Given the description of an element on the screen output the (x, y) to click on. 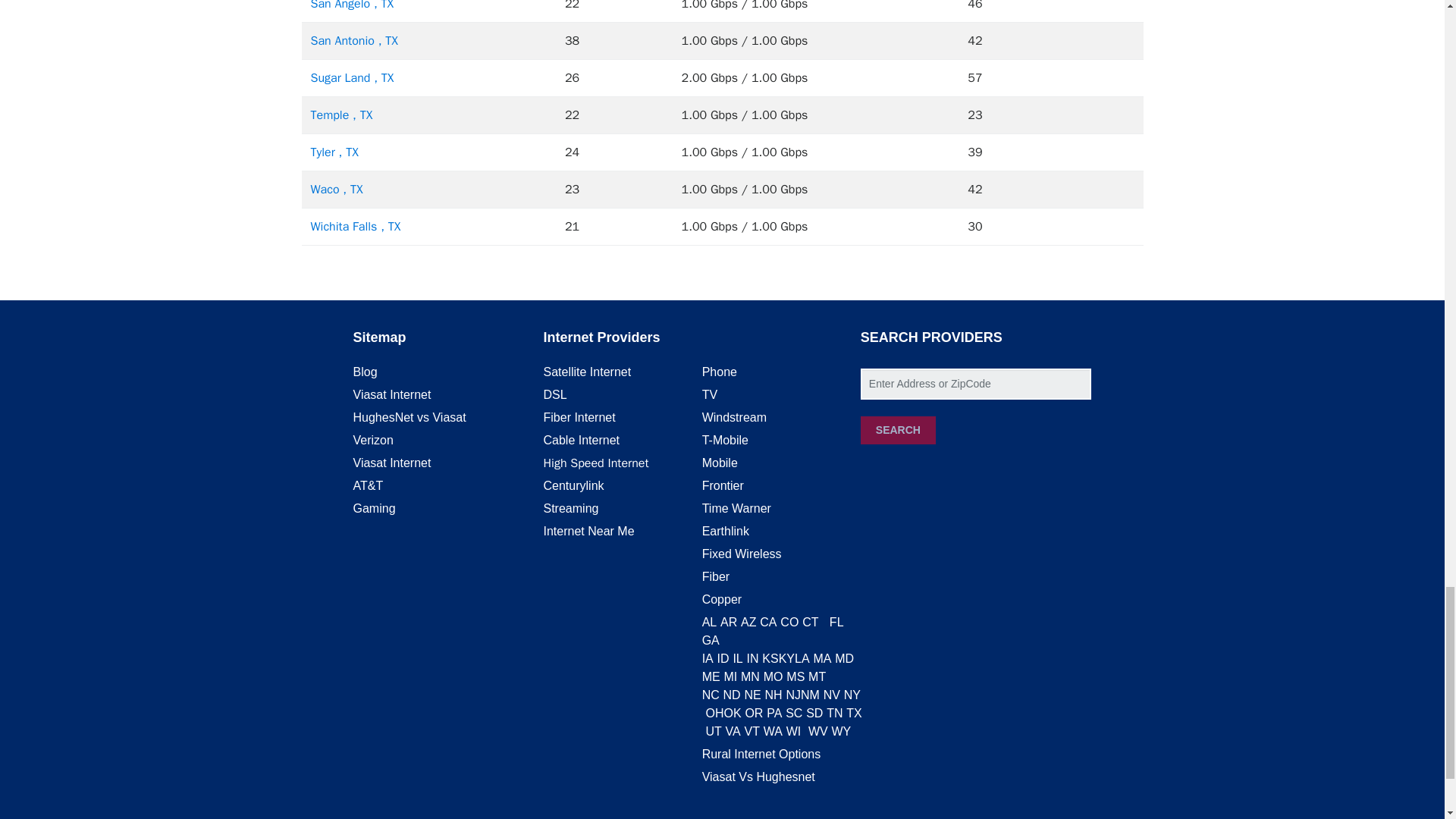
Alabama (709, 621)
Maryland (843, 658)
Minnesota (750, 676)
Colorado (788, 621)
Kansas (769, 658)
Michigan (729, 676)
Kentucky (786, 658)
Arizona (748, 621)
Massachusetts (821, 658)
Indiana (752, 658)
Georgia (710, 640)
Florida (836, 621)
California (768, 621)
Maine (710, 676)
Idaho (723, 658)
